Given the description of an element on the screen output the (x, y) to click on. 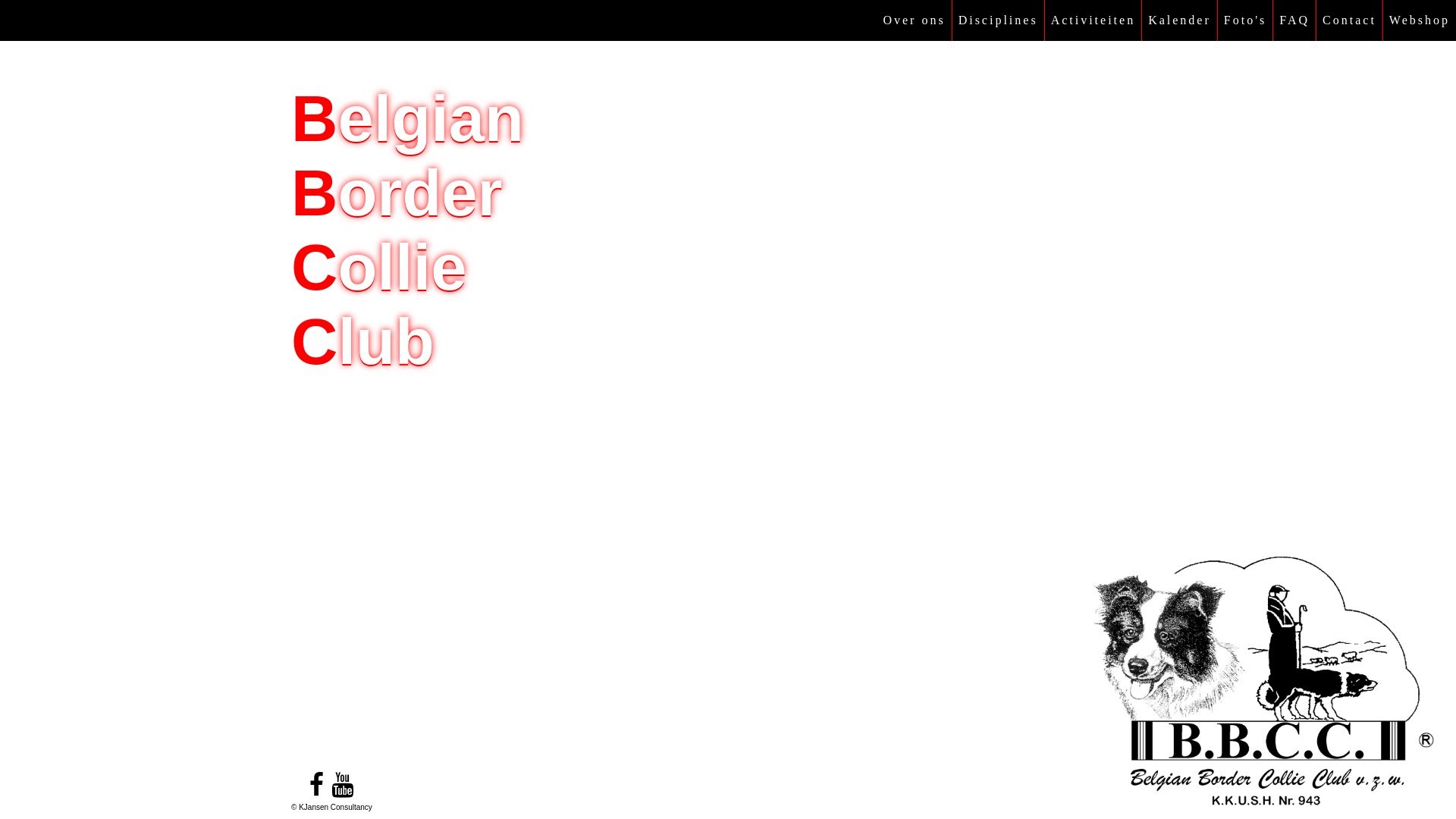
Disciplines Element type: text (998, 20)
Contact Element type: text (1349, 20)
facebook Element type: hover (316, 785)
Kalender Element type: text (1179, 20)
youtube Element type: hover (342, 785)
Activiteiten Element type: text (1093, 20)
Over ons Element type: text (913, 20)
Foto's Element type: text (1244, 20)
FAQ Element type: text (1294, 20)
